Given the description of an element on the screen output the (x, y) to click on. 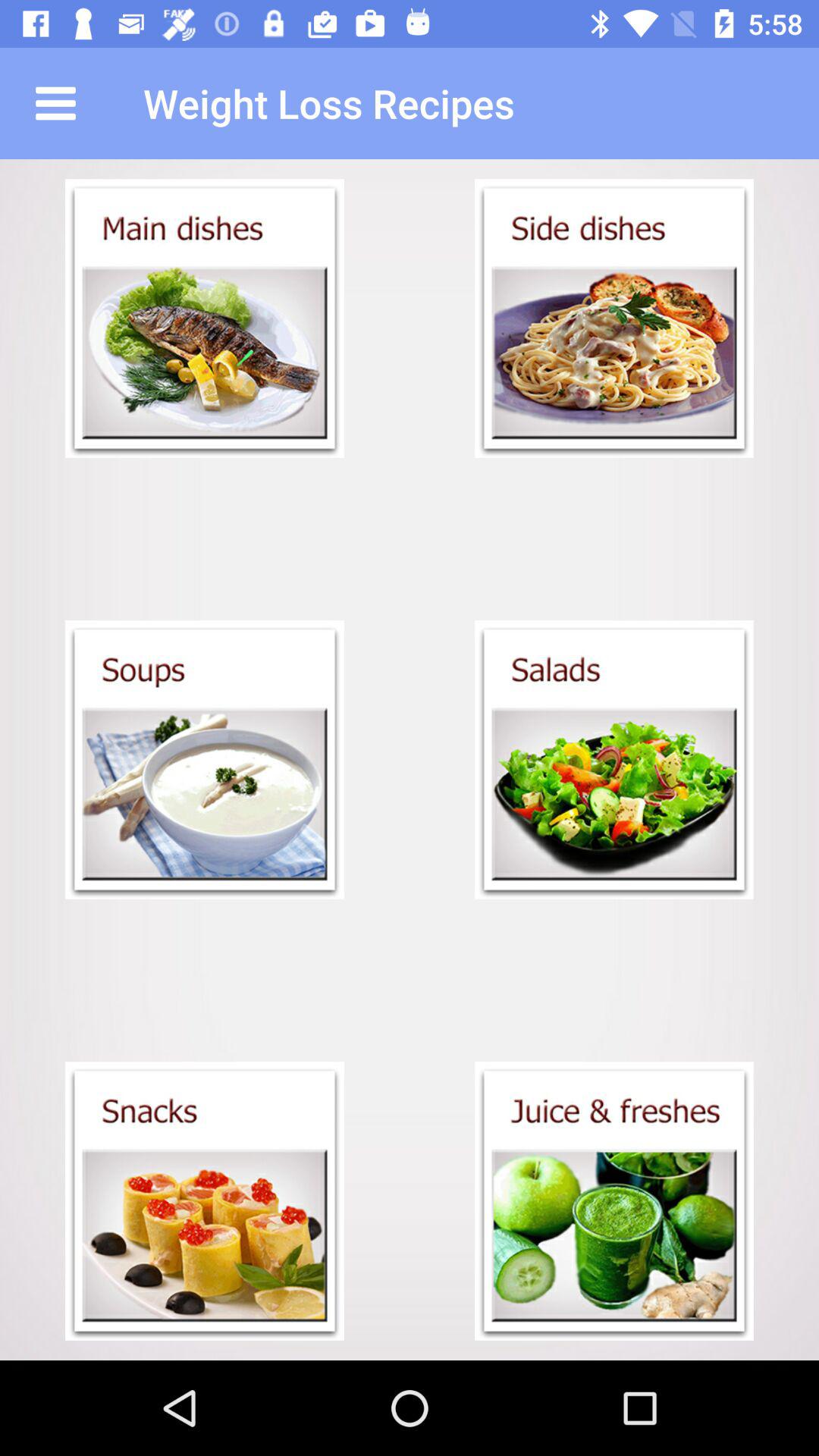
select the app to the left of the weight loss recipes icon (55, 103)
